Given the description of an element on the screen output the (x, y) to click on. 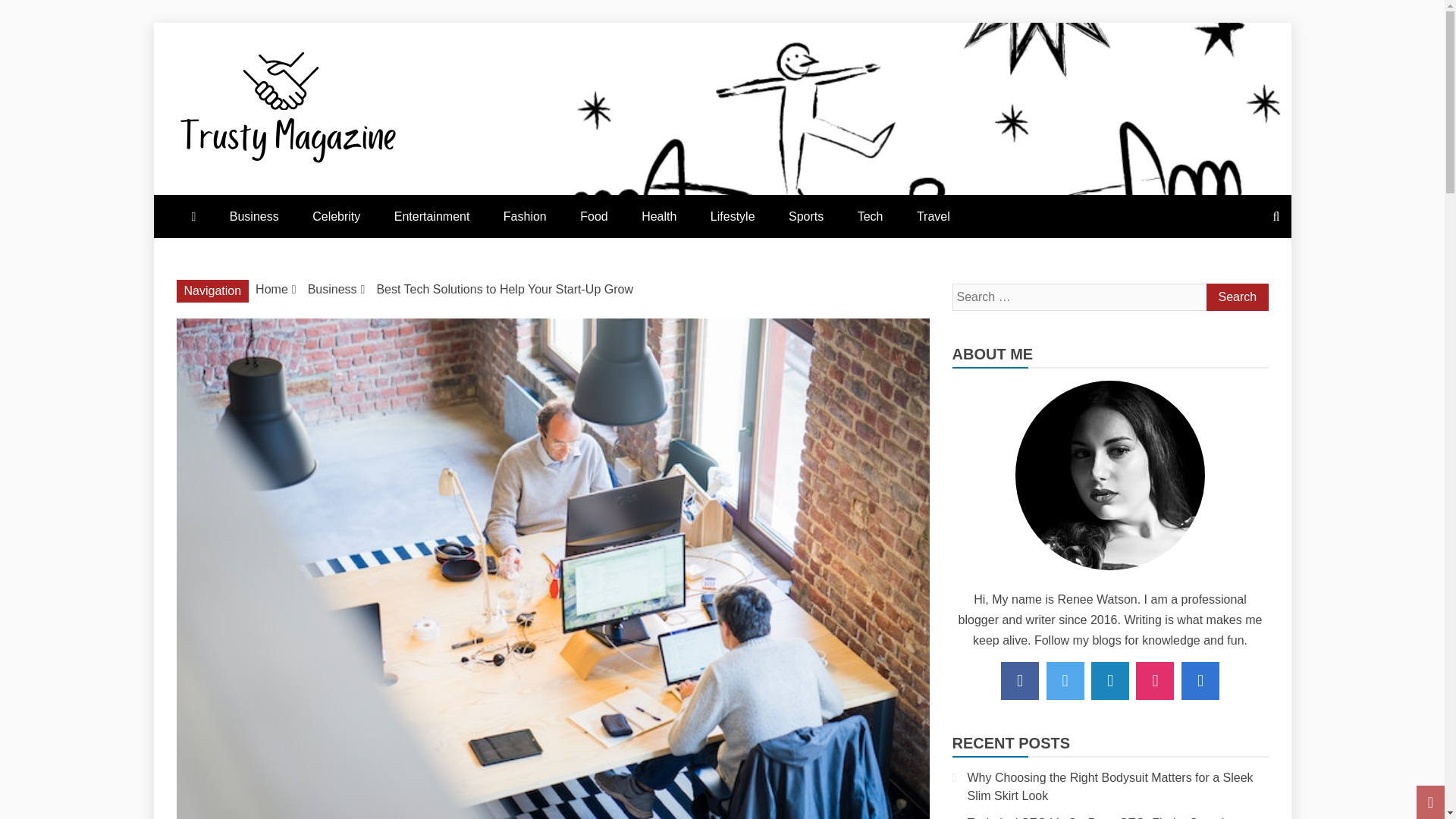
Health (658, 216)
Search (1236, 297)
Sports (805, 216)
Home (272, 288)
Food (593, 216)
Business (254, 216)
Tech (870, 216)
Search (1236, 297)
Entertainment (431, 216)
Celebrity (336, 216)
Travel (933, 216)
Business (331, 288)
TRUSTY MAGAZINE (414, 200)
Lifestyle (732, 216)
